Given the description of an element on the screen output the (x, y) to click on. 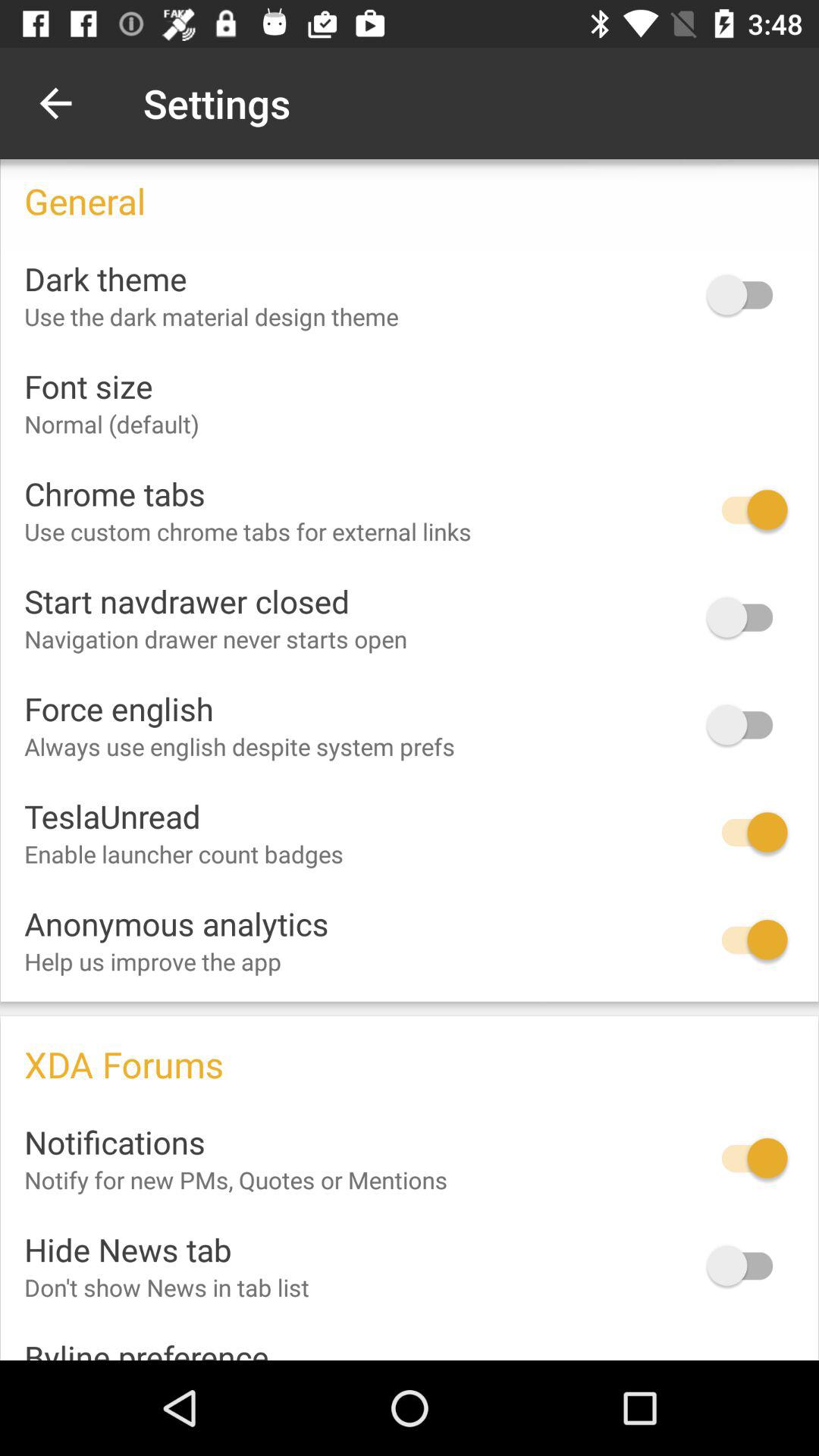
select item to the right of anonymous analytics item (747, 939)
